Given the description of an element on the screen output the (x, y) to click on. 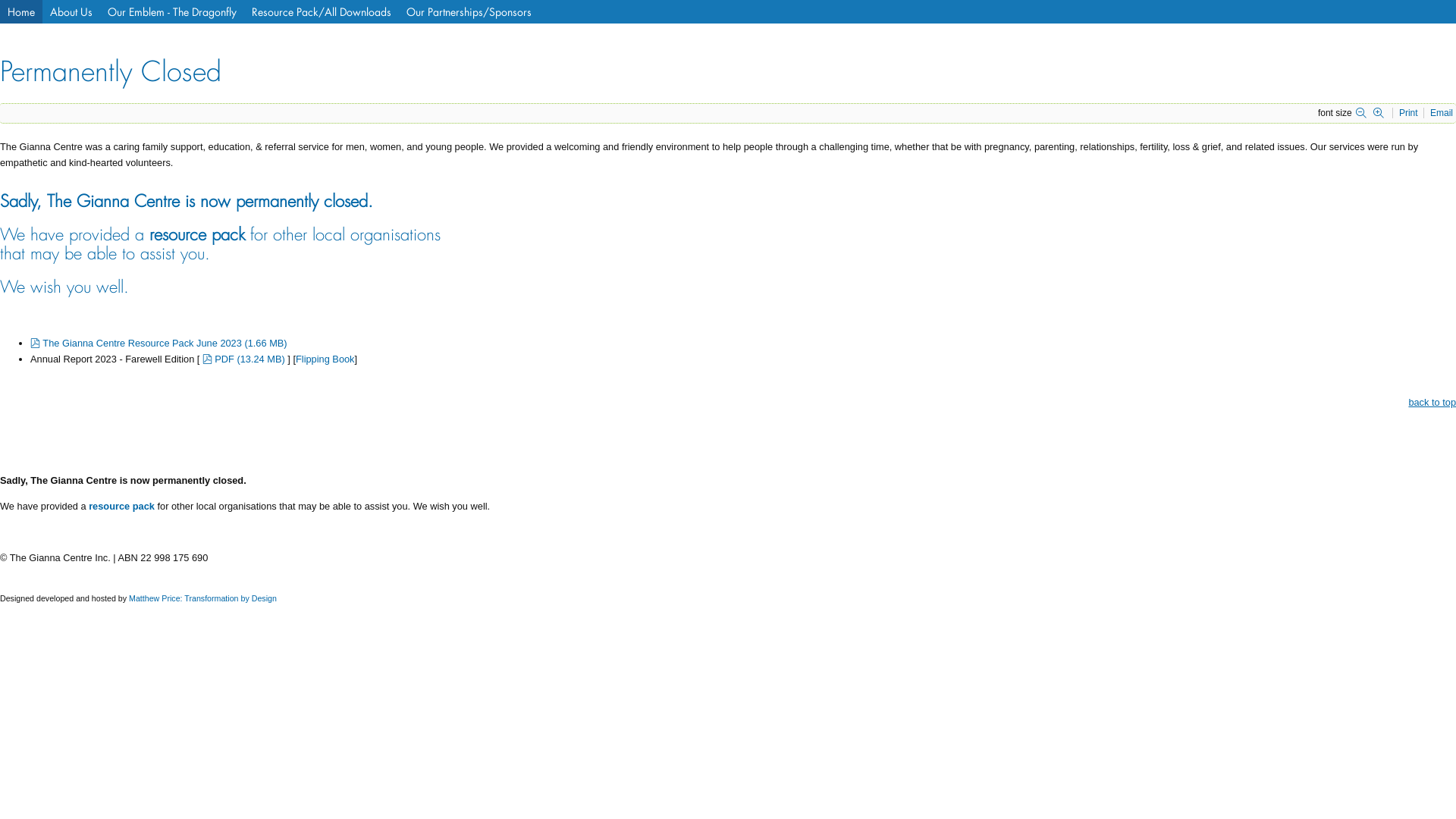
resource pack Element type: text (196, 234)
Resource Pack/All Downloads Element type: text (321, 11)
Flipping Book Element type: text (324, 358)
resource pack Element type: text (121, 505)
Home Element type: text (21, 11)
Matthew Price: Transformation by Design Element type: text (202, 597)
Our Emblem - The Dragonfly Element type: text (172, 11)
Email Element type: text (1441, 112)
Print Element type: text (1409, 112)
Our Partnerships/Sponsors Element type: text (468, 11)
pdf
PDF (13.24 MB) Element type: text (243, 358)
About Us Element type: text (71, 11)
pdf
The Gianna Centre Resource Pack June 2023 (1.66 MB) Element type: text (158, 342)
